Given the description of an element on the screen output the (x, y) to click on. 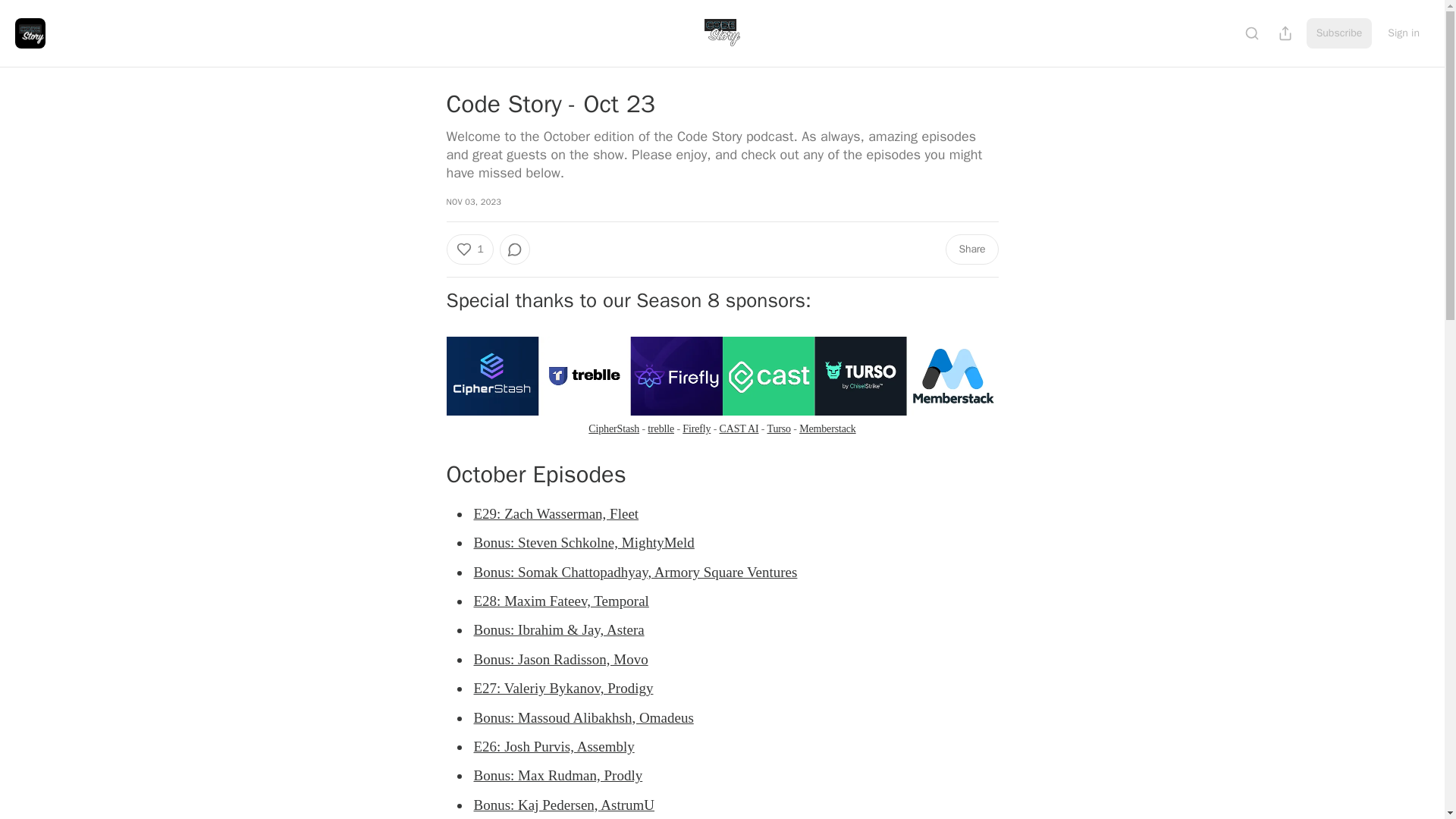
Bonus: Steven Schkolne, MightyMeld (583, 542)
1 (469, 249)
Memberstack (827, 428)
E28: Maxim Fateev, Temporal (560, 600)
Bonus: Jason Radisson, Movo (560, 659)
CipherStash (613, 428)
Sign in (1403, 33)
CAST AI (738, 428)
Turso (778, 428)
Bonus: Somak Chattopadhyay, Armory Square Ventures (634, 571)
